Given the description of an element on the screen output the (x, y) to click on. 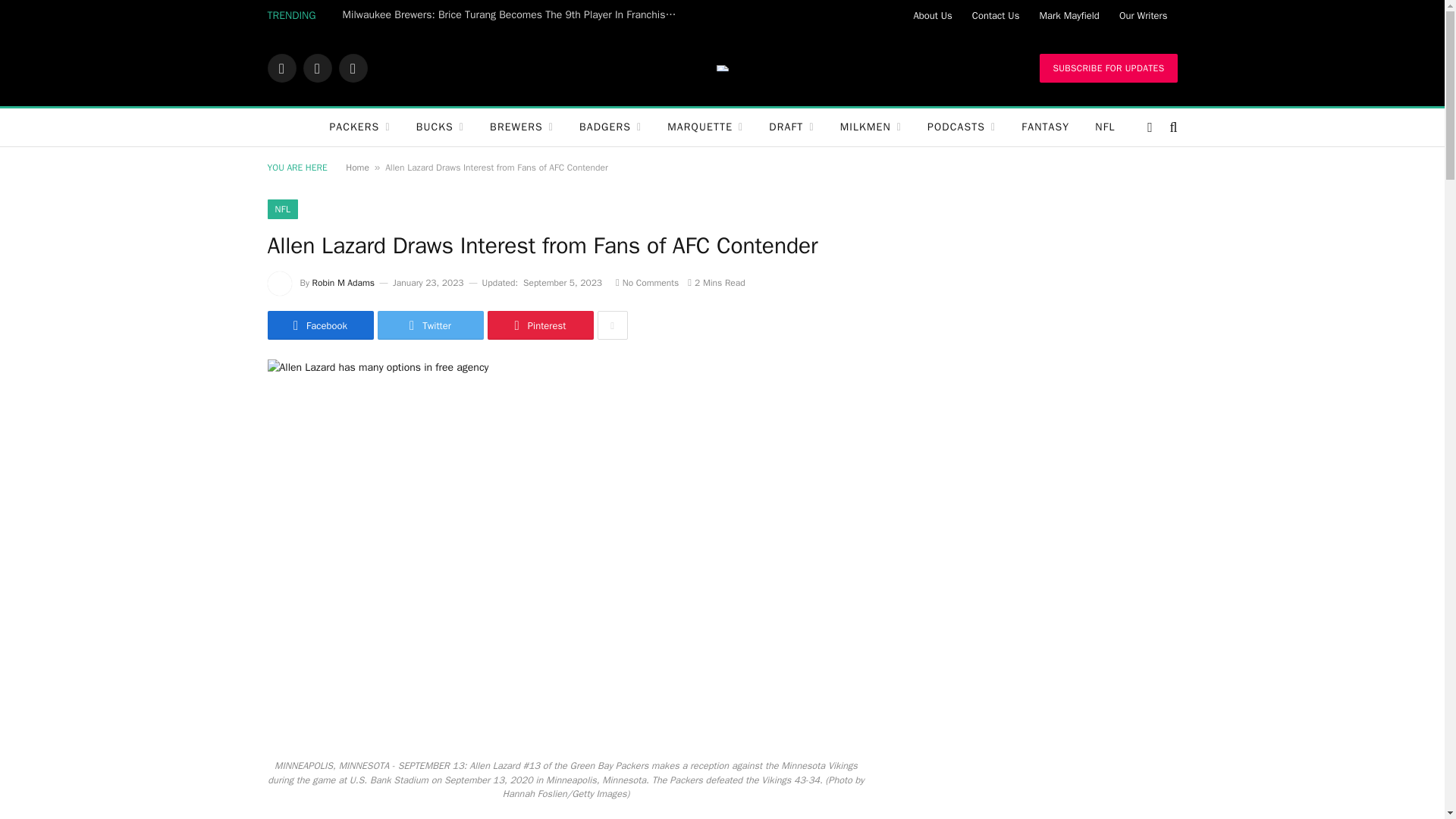
Our Writers (1143, 15)
Posts by Robin M Adams (343, 282)
Facebook (280, 68)
PACKERS (359, 127)
RSS (351, 68)
Mark Mayfield (1068, 15)
SUBSCRIBE FOR UPDATES (1107, 68)
About Us (931, 15)
BUCKS (440, 127)
Contact Us (995, 15)
